Given the description of an element on the screen output the (x, y) to click on. 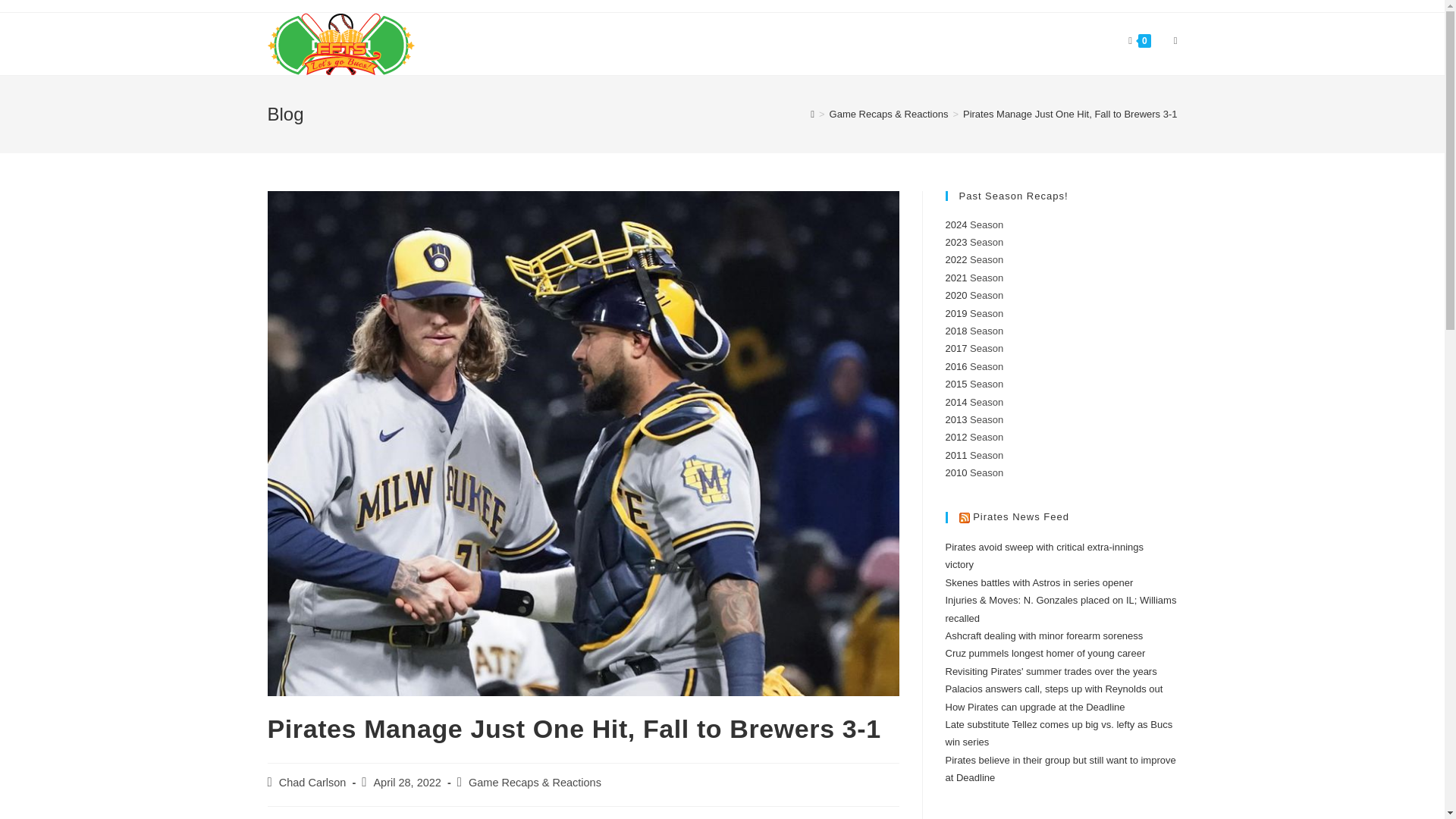
Pirates Manage Just One Hit, Fall to Brewers 3-1 (1069, 113)
Posts by Chad Carlson (312, 782)
Chad Carlson (312, 782)
